Given the description of an element on the screen output the (x, y) to click on. 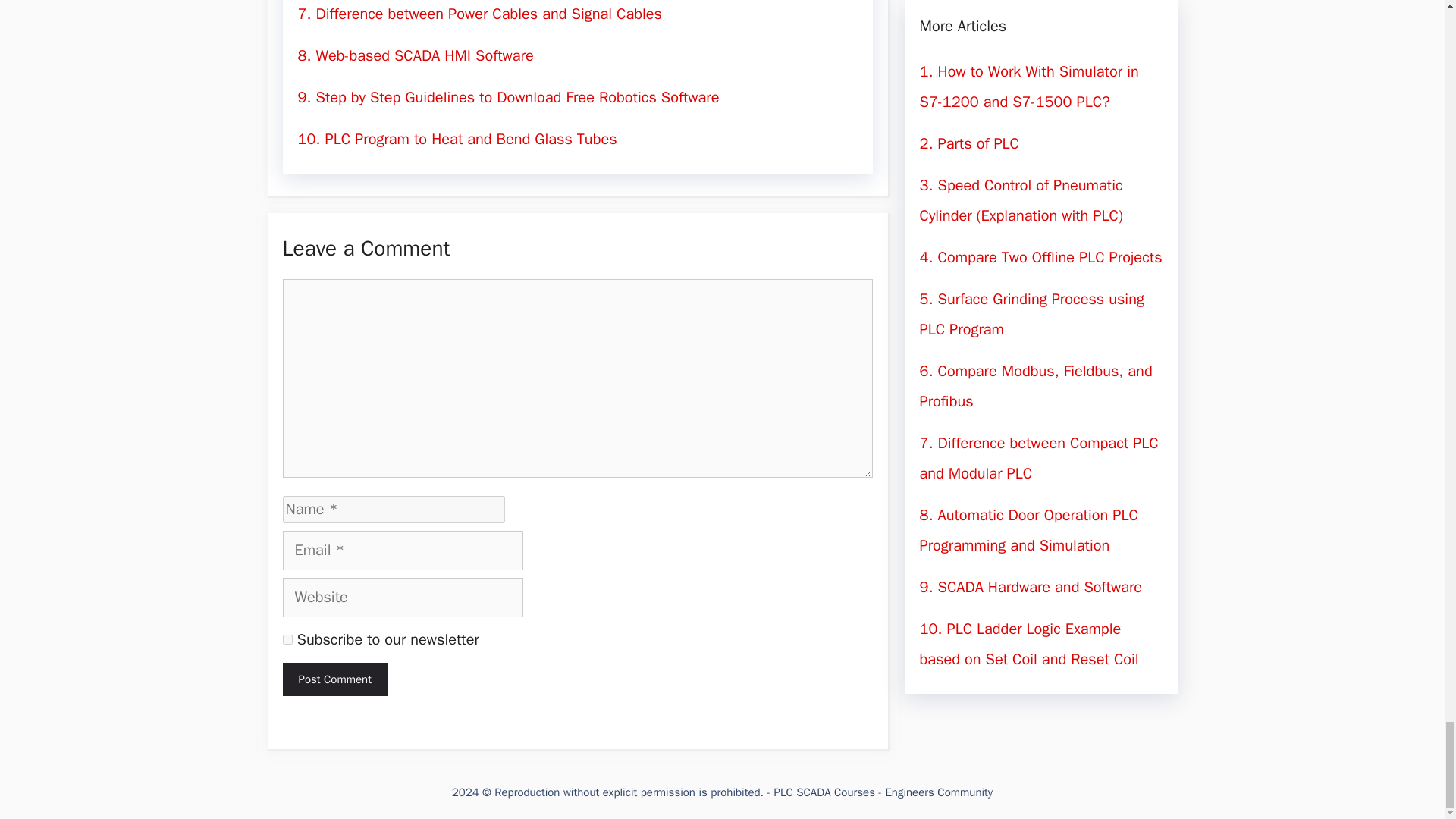
Post Comment (334, 678)
1 (287, 639)
